Given the description of an element on the screen output the (x, y) to click on. 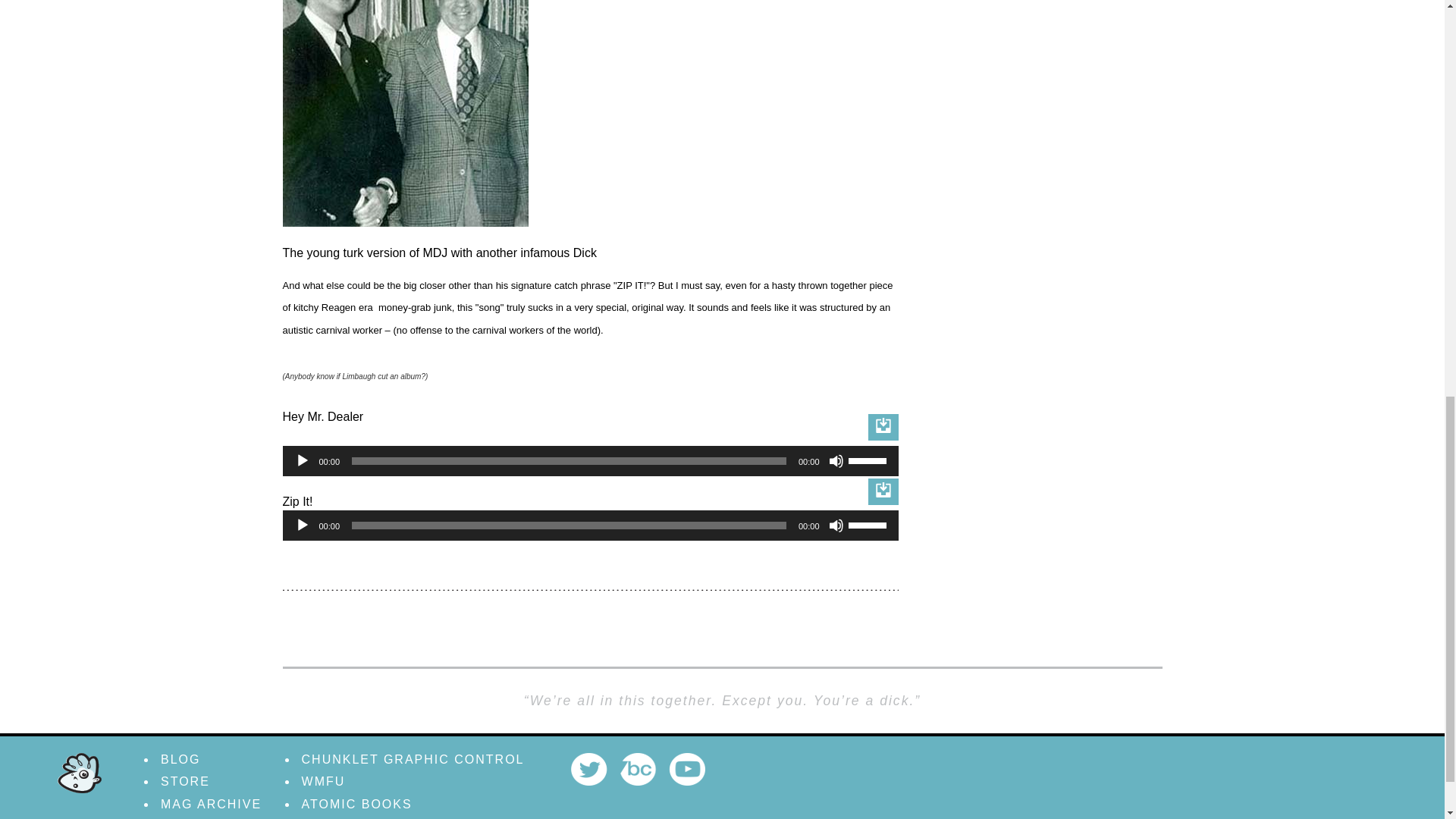
Play (301, 525)
Mute (835, 525)
MAG ARCHIVE (211, 803)
Mute (835, 460)
BLOG (180, 758)
CHUNKLET GRAPHIC CONTROL (412, 758)
WMFU (323, 780)
Play (301, 460)
STORE (184, 780)
ATOMIC BOOKS (356, 803)
